Given the description of an element on the screen output the (x, y) to click on. 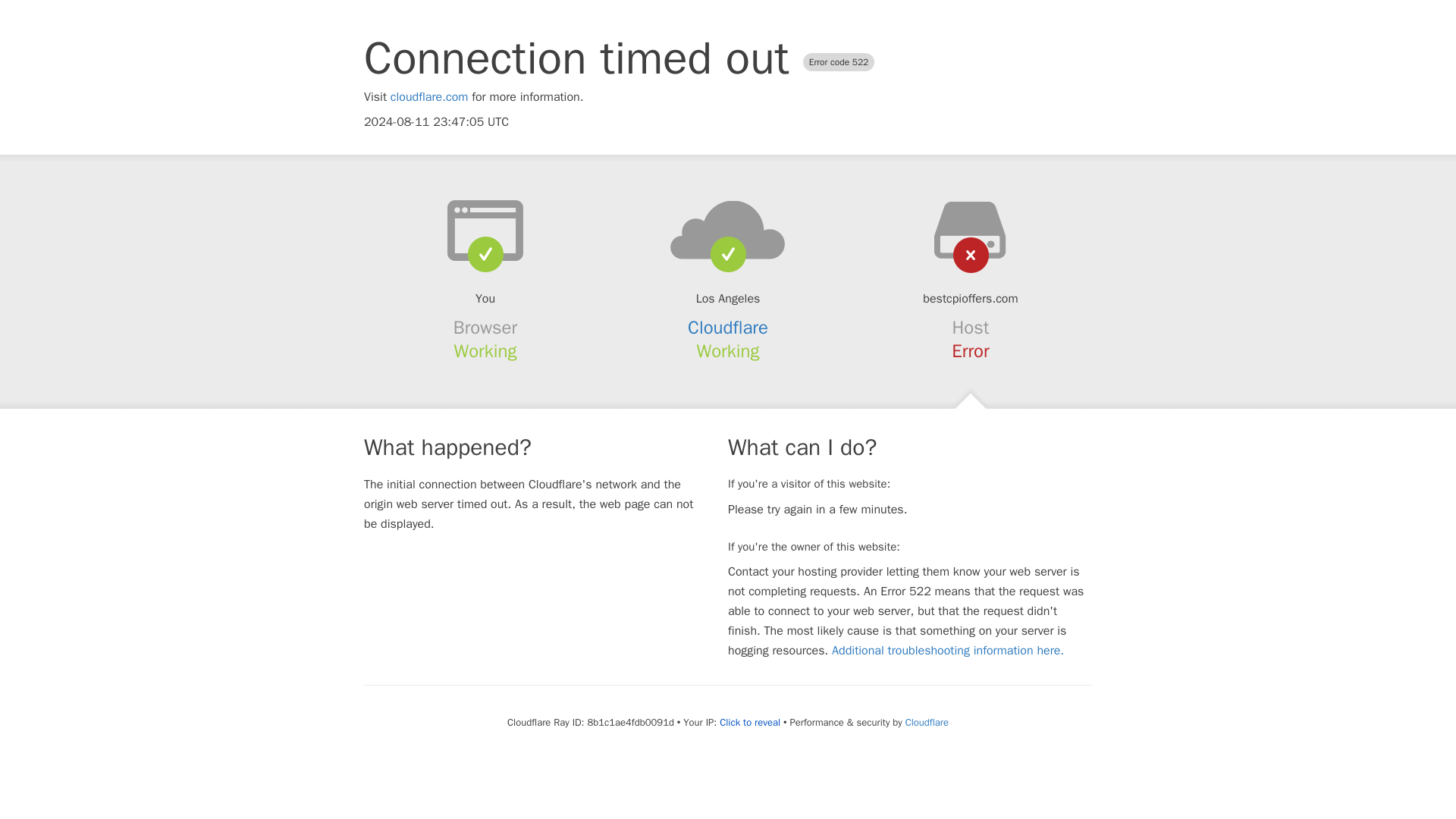
Additional troubleshooting information here. (947, 650)
Cloudflare (727, 327)
cloudflare.com (429, 96)
Cloudflare (927, 721)
Click to reveal (749, 722)
